Given the description of an element on the screen output the (x, y) to click on. 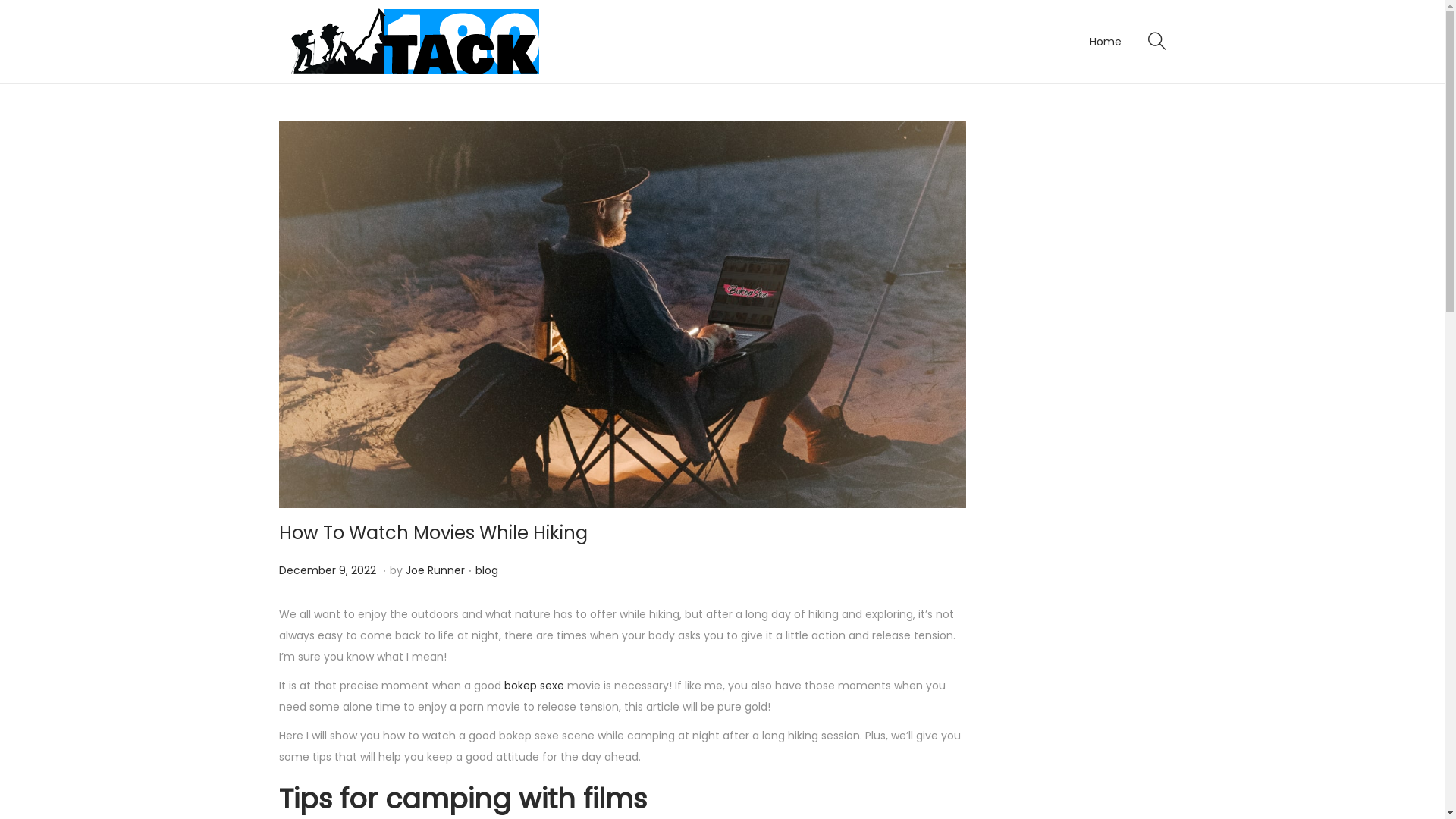
bokep sexe Element type: text (533, 685)
blog Element type: text (485, 569)
Skip to navigation Element type: text (277, 40)
How To Watch Movies While Hiking Element type: text (433, 532)
Search Element type: text (950, 428)
Home Element type: text (1104, 41)
Joe Runner Element type: text (434, 569)
December 9, 2022
March 9, 2023 Element type: text (329, 569)
